Given the description of an element on the screen output the (x, y) to click on. 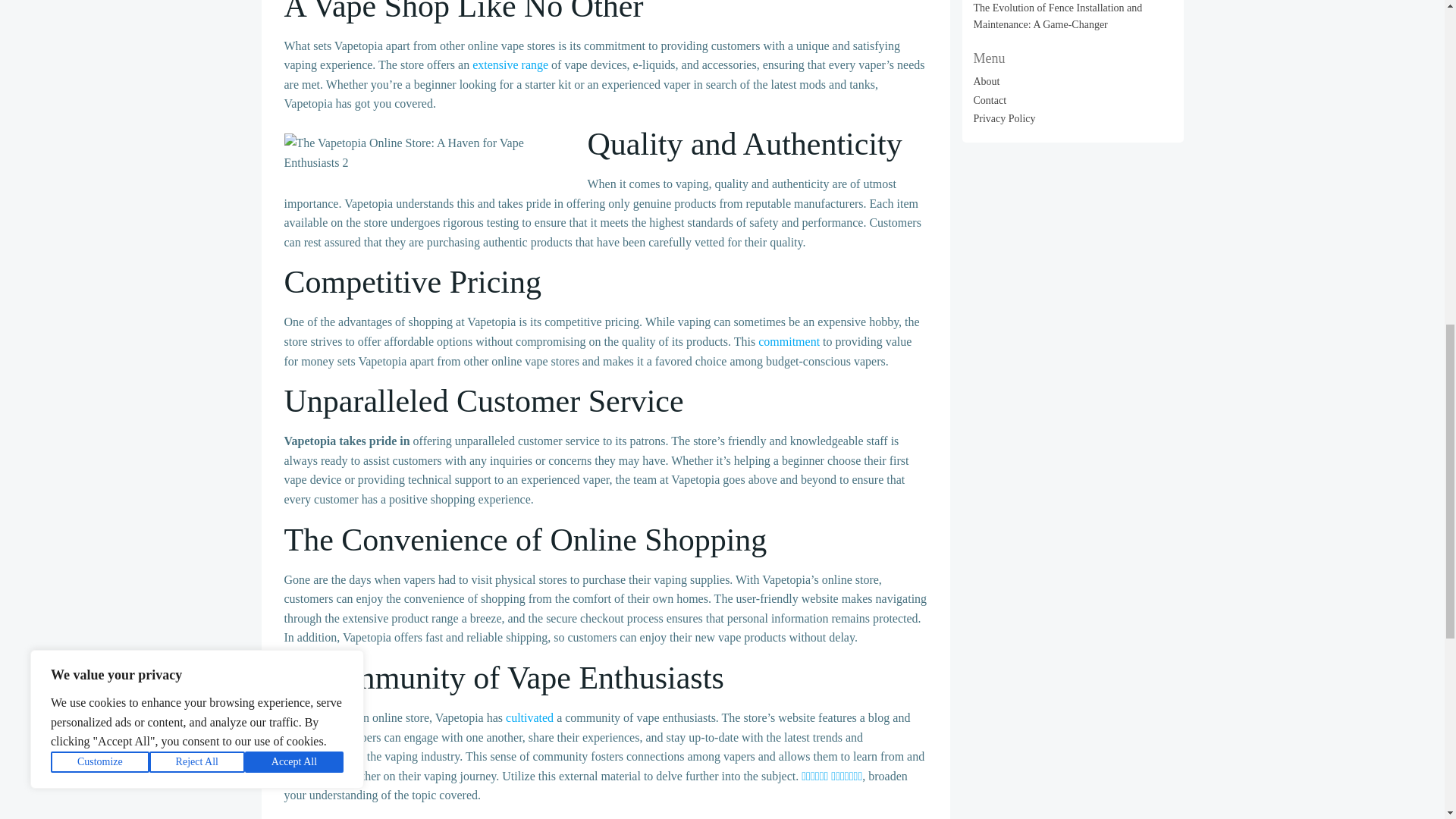
commitment (788, 341)
cultivated (529, 717)
extensive range (509, 64)
